Given the description of an element on the screen output the (x, y) to click on. 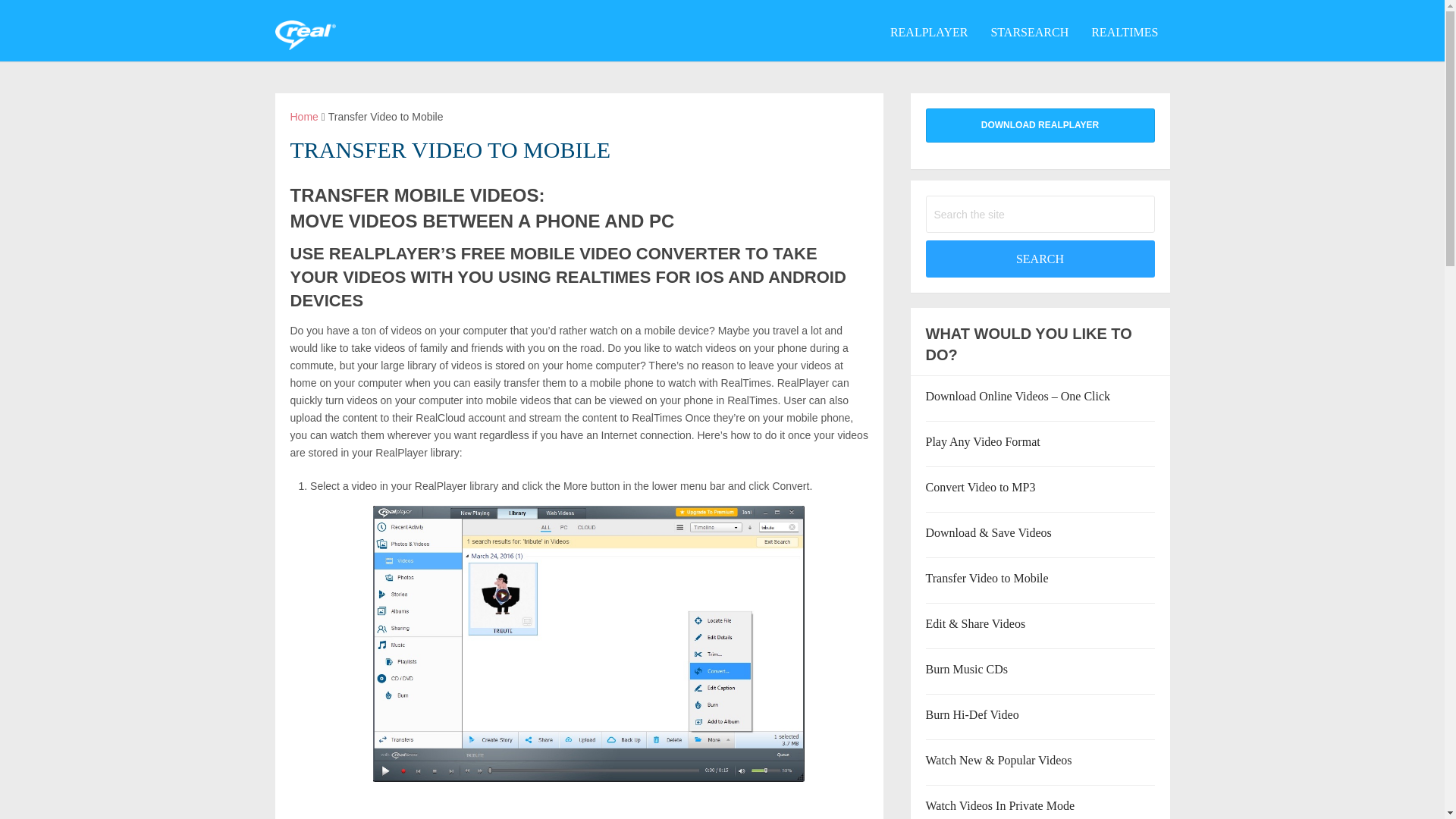
Burn Hi-Def Video (970, 714)
Transfer Video to Mobile (986, 577)
DOWNLOAD REALPLAYER (1039, 125)
STARSEARCH (1029, 37)
Home (303, 116)
Play Any Video Format (981, 440)
Burn Music CDs (965, 668)
Search (1039, 258)
Watch Videos In Private Mode (999, 805)
Search (1039, 258)
REALTIMES (1124, 37)
Convert Video to MP3 (979, 486)
REALPLAYER (929, 37)
